Given the description of an element on the screen output the (x, y) to click on. 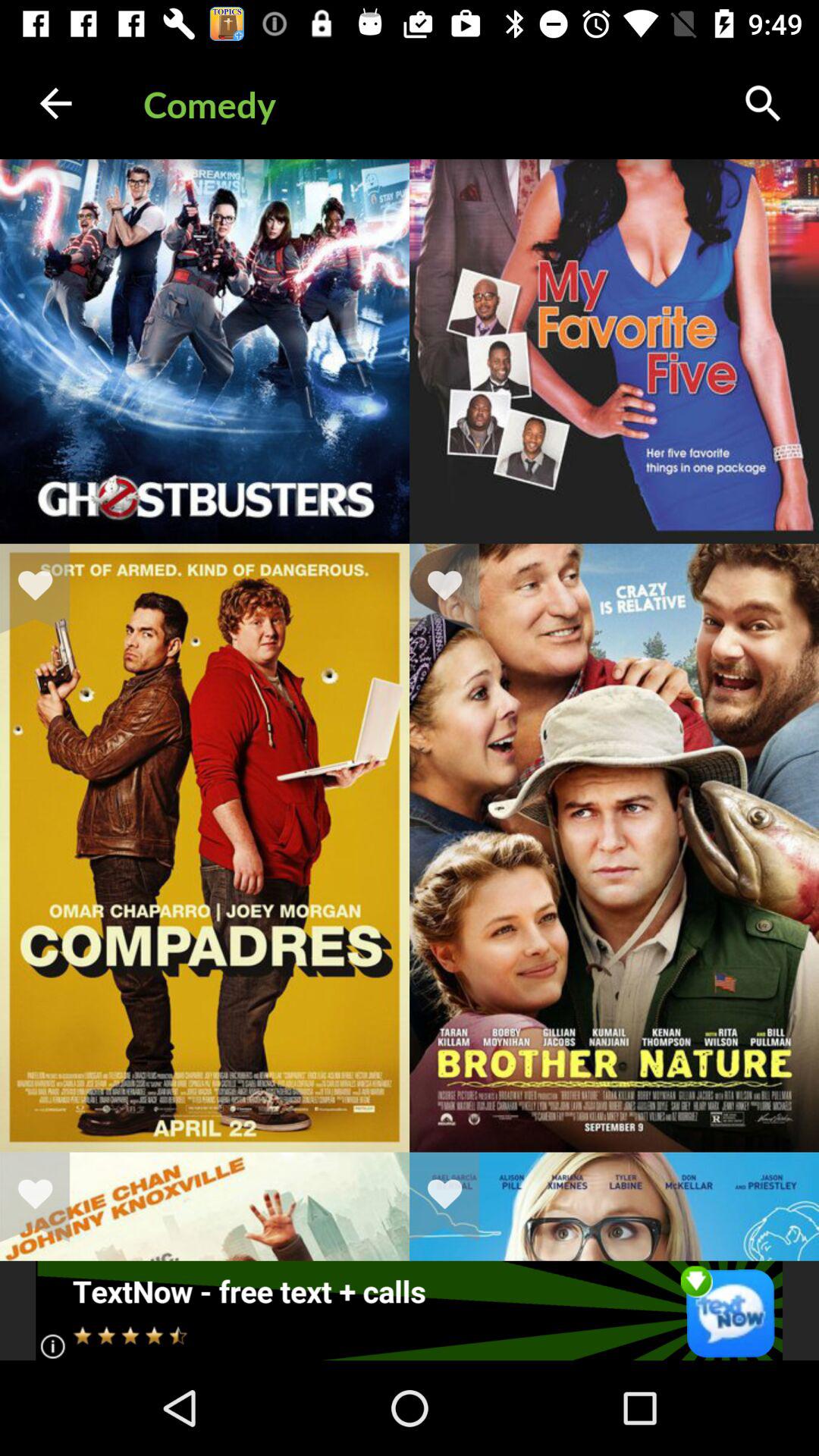
like a movie (454, 1197)
